Given the description of an element on the screen output the (x, y) to click on. 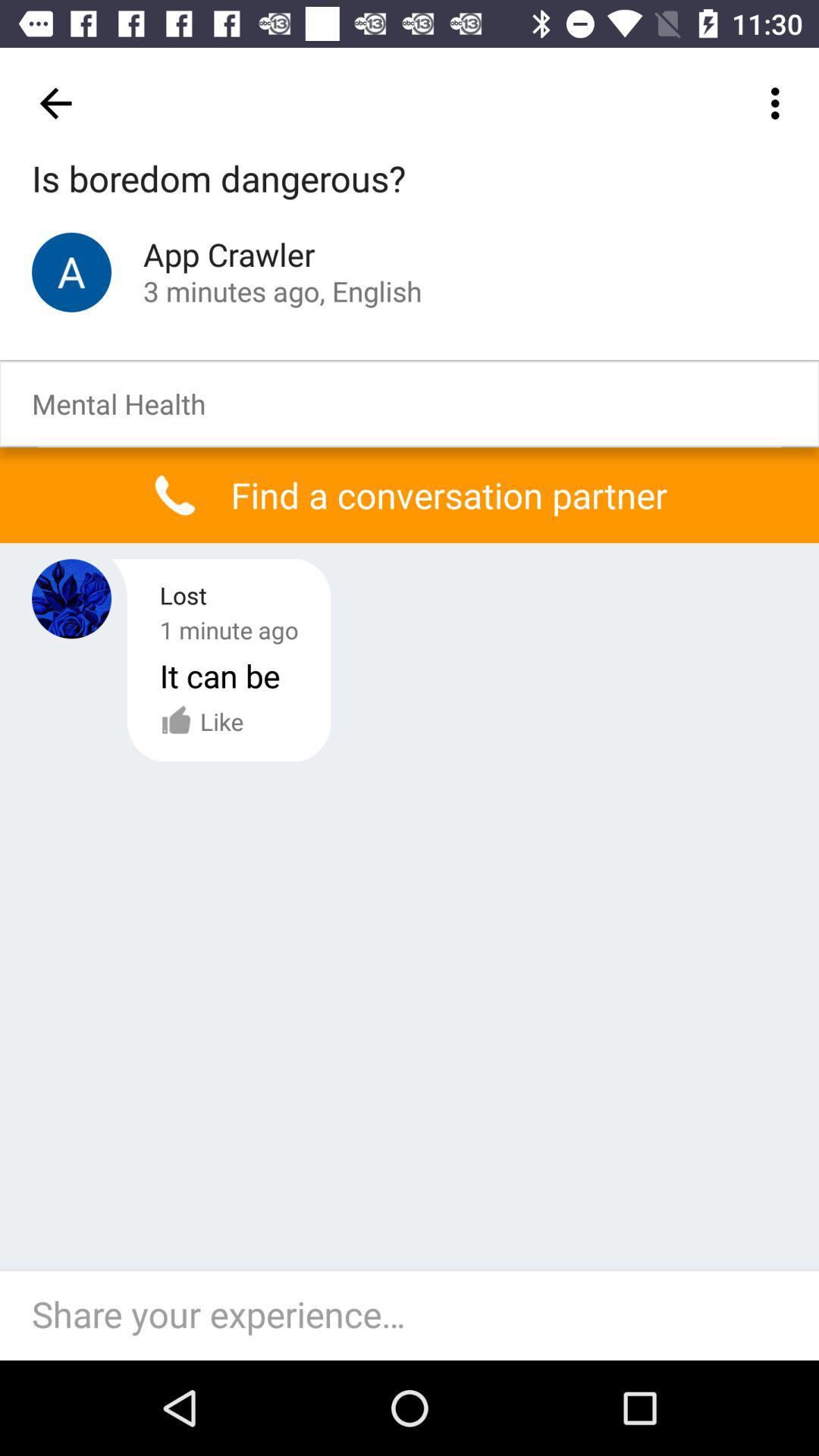
select the icon at the top right corner (779, 103)
